Given the description of an element on the screen output the (x, y) to click on. 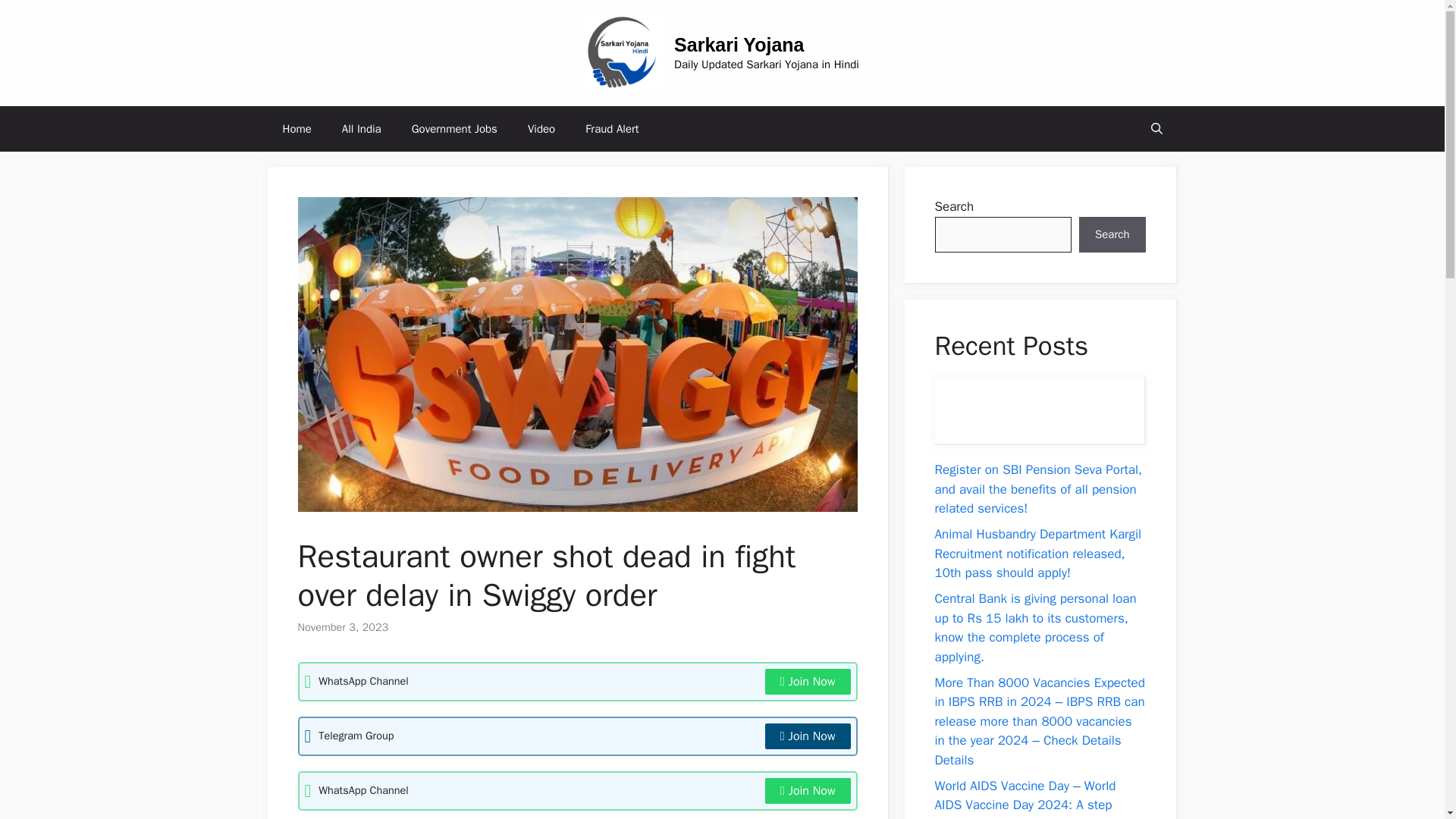
Fraud Alert (611, 128)
Government Jobs (454, 128)
Search (1111, 235)
Join Now (807, 790)
Join Now (807, 681)
Sarkari Yojana (738, 44)
Join Now (807, 736)
Video (541, 128)
